Given the description of an element on the screen output the (x, y) to click on. 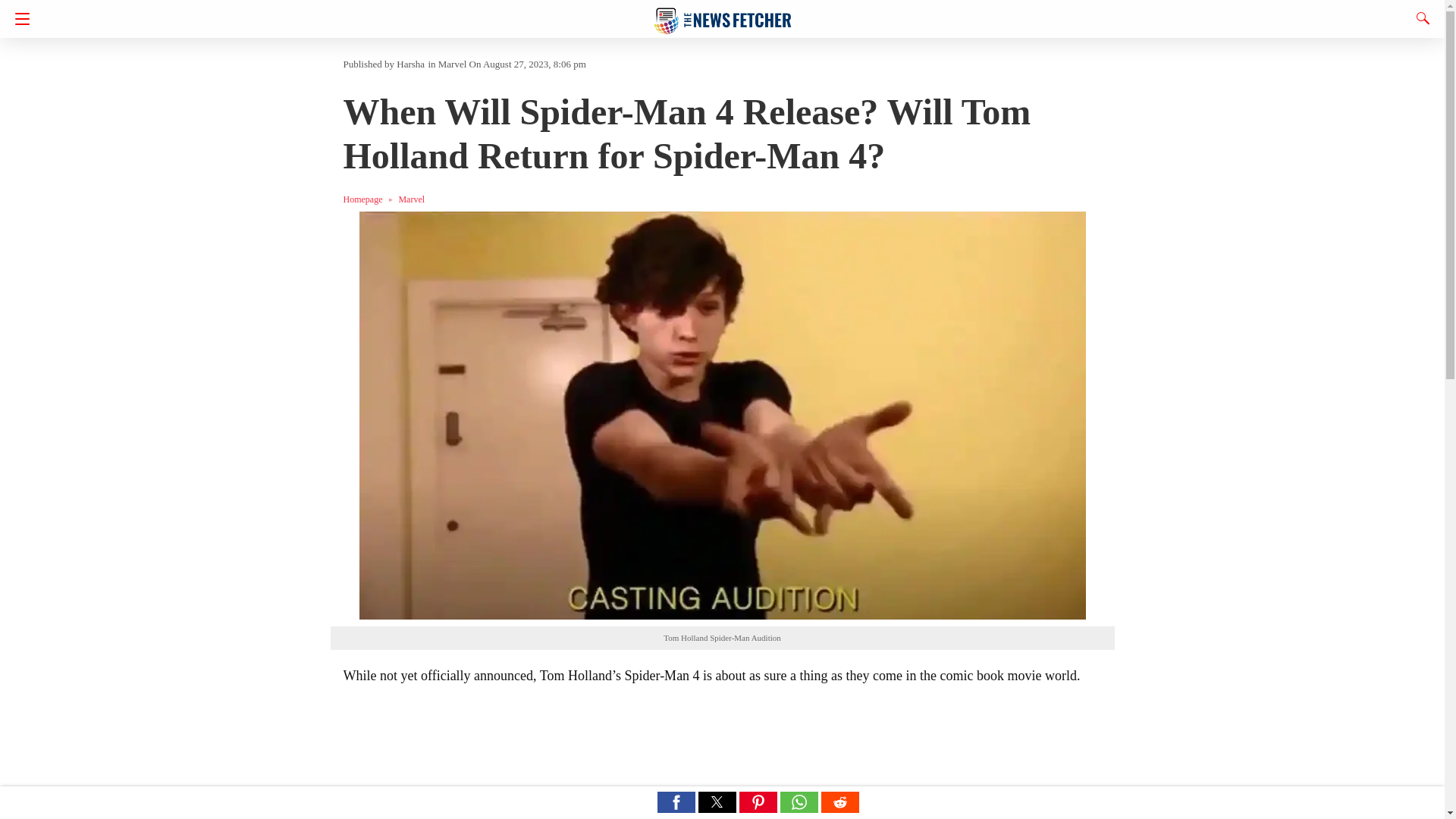
Marvel (411, 199)
The News Fetcher (722, 14)
Marvel (411, 199)
3rd party ad content (722, 764)
Homepage (369, 199)
Marvel (452, 63)
Homepage (369, 199)
